Given the description of an element on the screen output the (x, y) to click on. 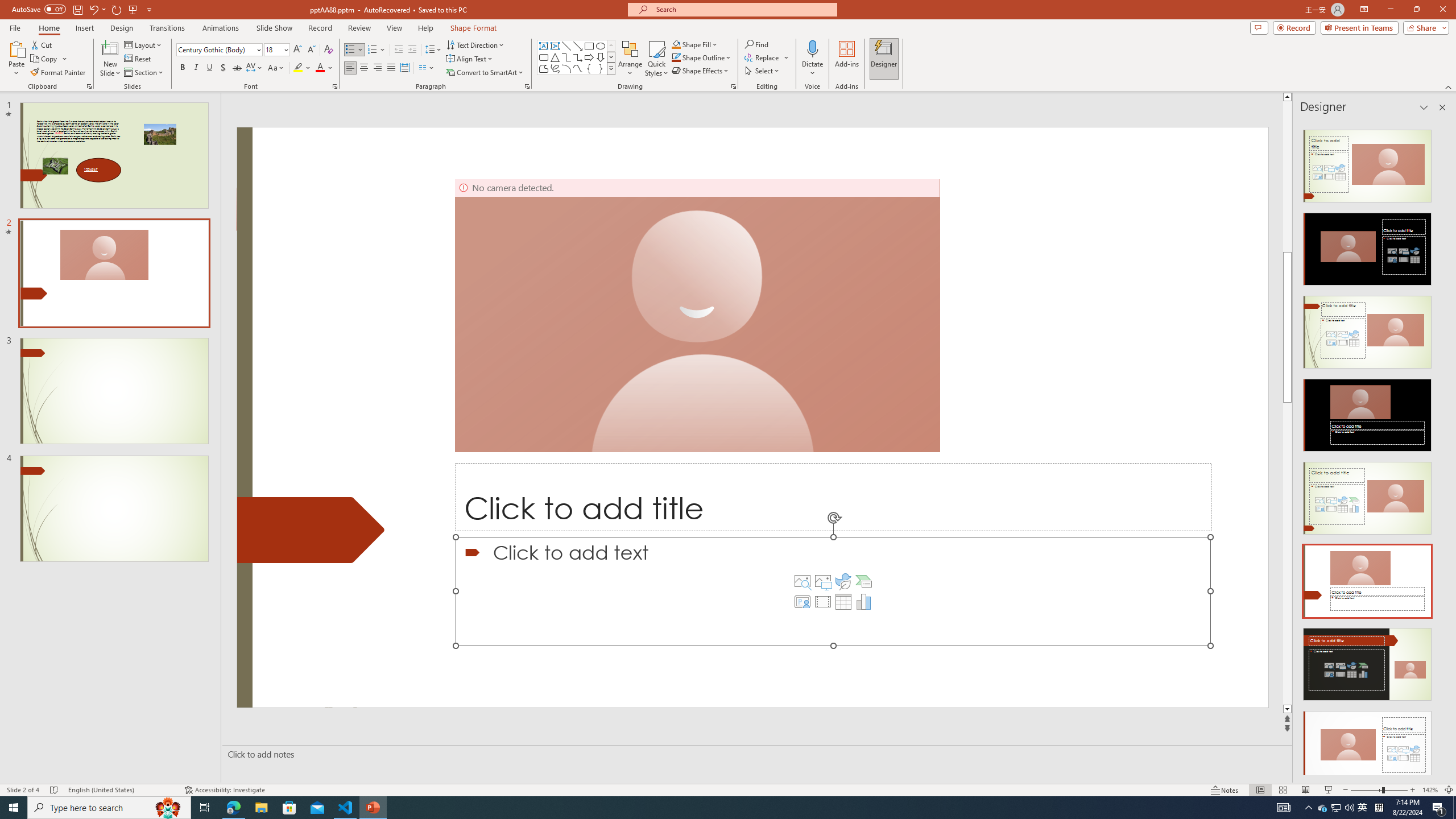
Zoom 142% (1430, 790)
